Given the description of an element on the screen output the (x, y) to click on. 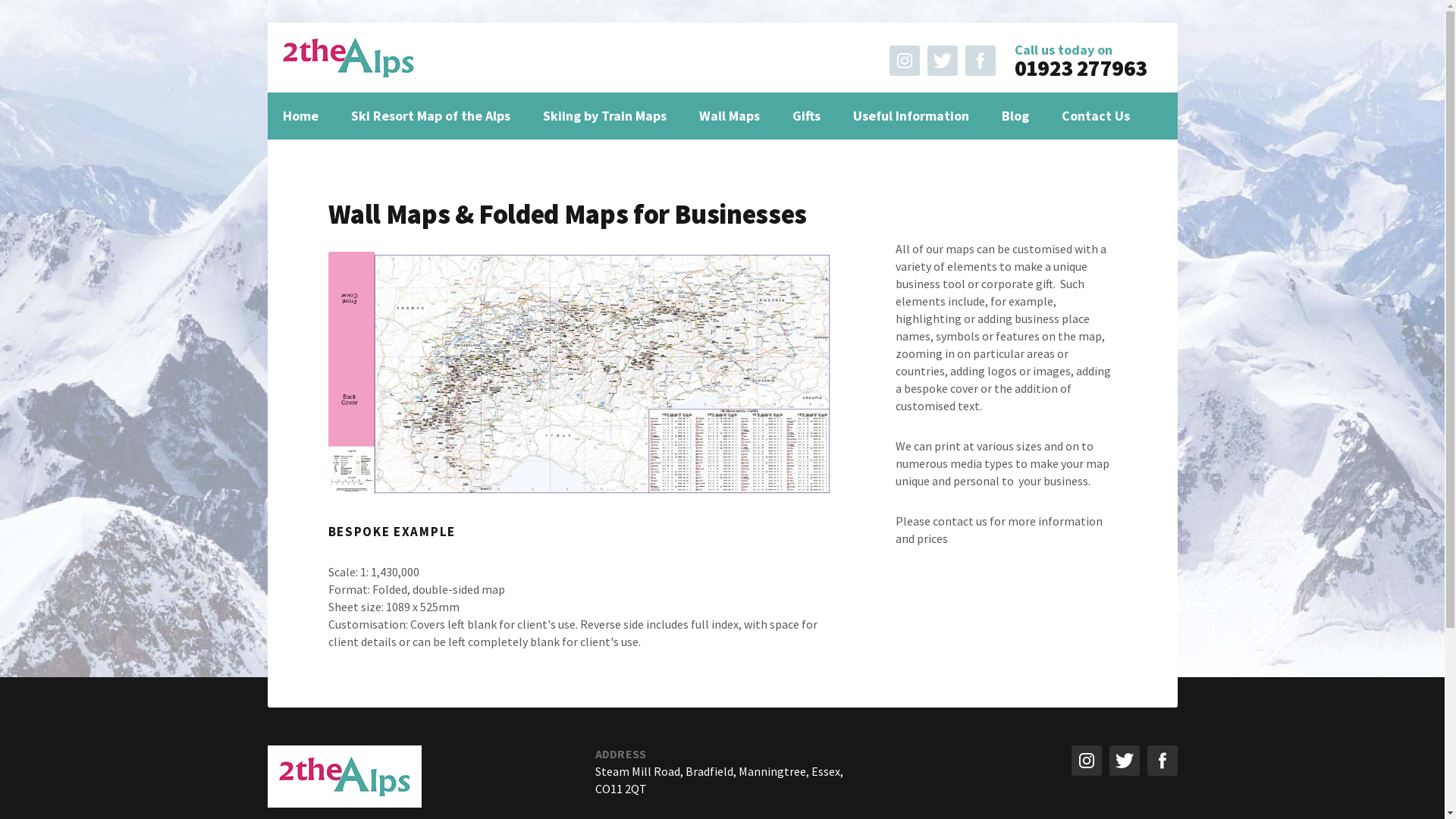
Useful Information Element type: text (909, 115)
Like us on Facebook Element type: text (980, 60)
Contact Us Element type: text (1095, 115)
Follow us on instagram Element type: text (1085, 760)
Like us on Facebook Element type: text (1161, 760)
Gifts Element type: text (805, 115)
01923 277963 Element type: text (1080, 67)
Follow us on Twitter Element type: text (1123, 760)
Follow us on Twitter Element type: text (942, 60)
Blog Element type: text (1014, 115)
Wall Maps Element type: text (729, 115)
Home Element type: text (299, 115)
Skiing by Train Maps Element type: text (604, 115)
Follow us on instagram Element type: text (904, 60)
Ski Resort Map of the Alps Element type: text (429, 115)
